Given the description of an element on the screen output the (x, y) to click on. 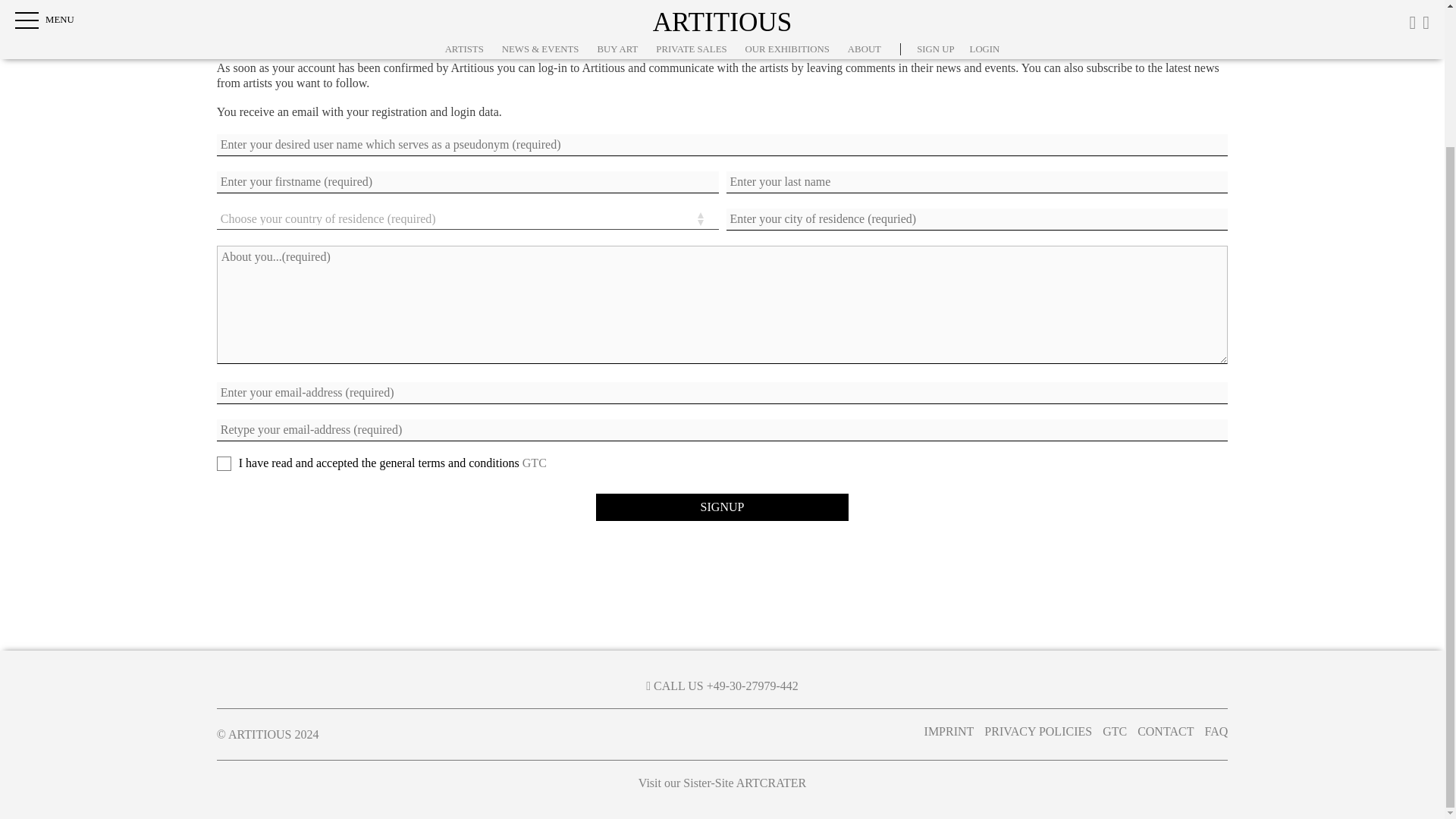
GTC (534, 462)
PRIVACY POLICIES (1038, 730)
SIGNUP (721, 506)
SIGNUP (721, 506)
GTC (1114, 730)
IMPRINT (949, 730)
FAQ (1215, 730)
CONTACT (1165, 730)
